Given the description of an element on the screen output the (x, y) to click on. 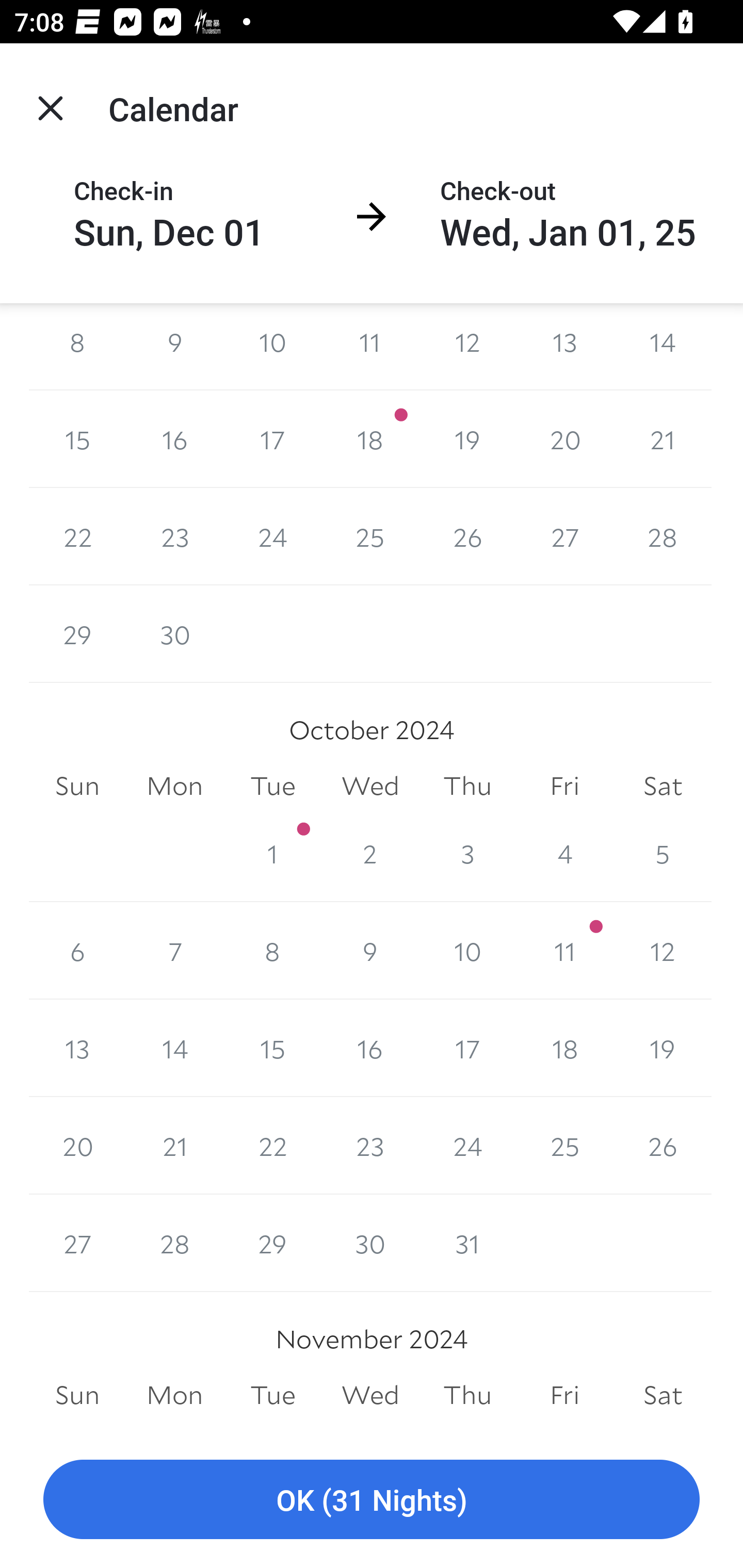
8 8 September 2024 (77, 346)
9 9 September 2024 (174, 346)
10 10 September 2024 (272, 346)
11 11 September 2024 (370, 346)
12 12 September 2024 (467, 346)
13 13 September 2024 (564, 346)
14 14 September 2024 (662, 346)
15 15 September 2024 (77, 438)
16 16 September 2024 (174, 438)
17 17 September 2024 (272, 438)
18 18 September 2024 (370, 438)
19 19 September 2024 (467, 438)
20 20 September 2024 (564, 438)
21 21 September 2024 (662, 438)
22 22 September 2024 (77, 535)
23 23 September 2024 (174, 535)
24 24 September 2024 (272, 535)
25 25 September 2024 (370, 535)
26 26 September 2024 (467, 535)
27 27 September 2024 (564, 535)
28 28 September 2024 (662, 535)
29 29 September 2024 (77, 633)
30 30 September 2024 (174, 633)
Sun (77, 785)
Mon (174, 785)
Tue (272, 785)
Wed (370, 785)
Thu (467, 785)
Fri (564, 785)
Sat (662, 785)
1 1 October 2024 (272, 852)
2 2 October 2024 (370, 852)
3 3 October 2024 (467, 852)
4 4 October 2024 (564, 852)
5 5 October 2024 (662, 852)
6 6 October 2024 (77, 950)
7 7 October 2024 (174, 950)
8 8 October 2024 (272, 950)
9 9 October 2024 (370, 950)
10 10 October 2024 (467, 950)
11 11 October 2024 (564, 950)
12 12 October 2024 (662, 950)
13 13 October 2024 (77, 1048)
14 14 October 2024 (174, 1048)
15 15 October 2024 (272, 1048)
16 16 October 2024 (370, 1048)
17 17 October 2024 (467, 1048)
18 18 October 2024 (564, 1048)
19 19 October 2024 (662, 1048)
